Given the description of an element on the screen output the (x, y) to click on. 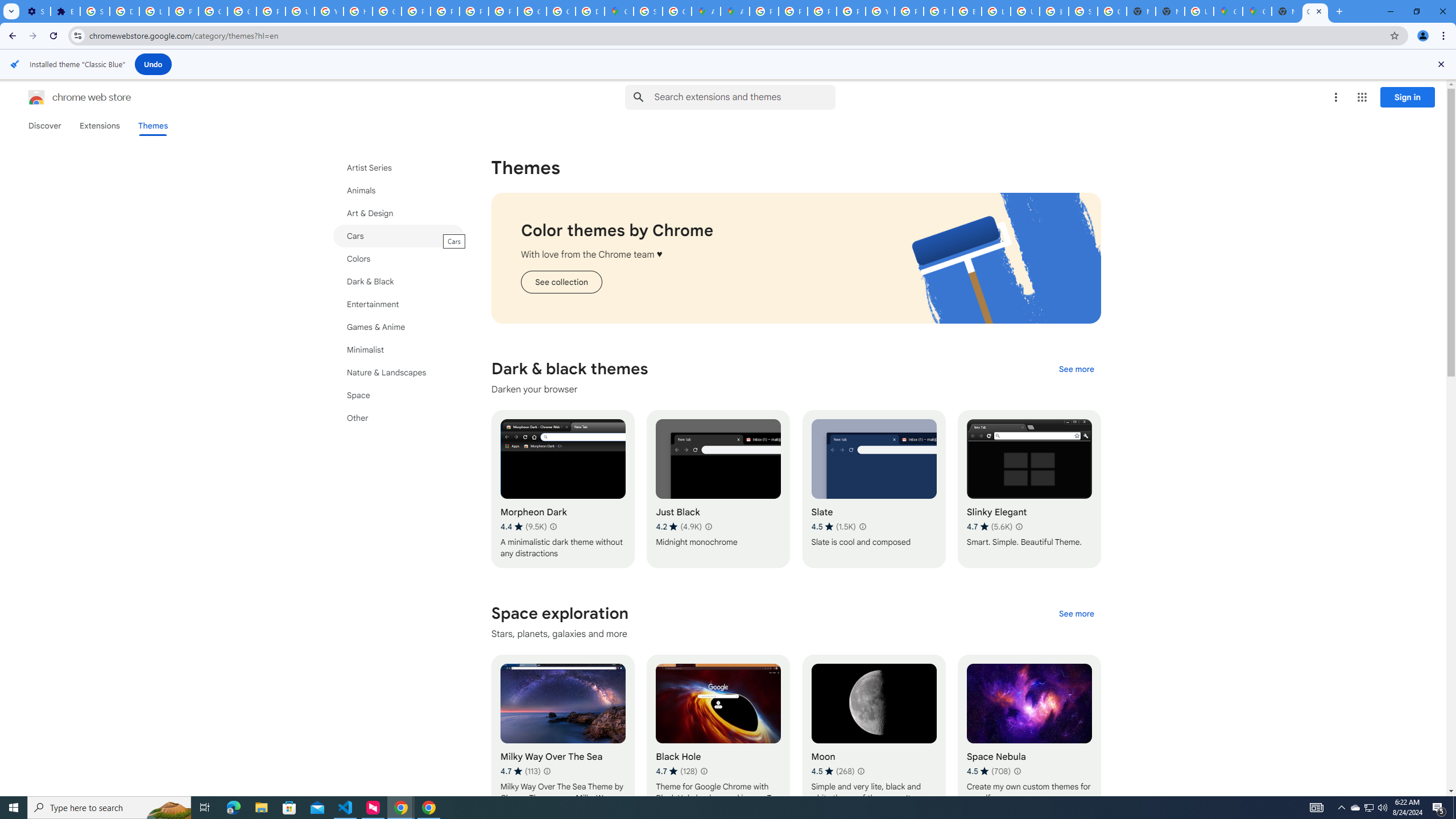
Slate (873, 489)
Settings - On startup (35, 11)
Delete photos & videos - Computer - Google Photos Help (124, 11)
Extensions (65, 11)
YouTube (879, 11)
Animals (398, 190)
Morpheon Dark (562, 489)
Space Nebula (1028, 733)
Extensions (99, 125)
Games & Anime (398, 326)
Sign in - Google Accounts (1082, 11)
